Given the description of an element on the screen output the (x, y) to click on. 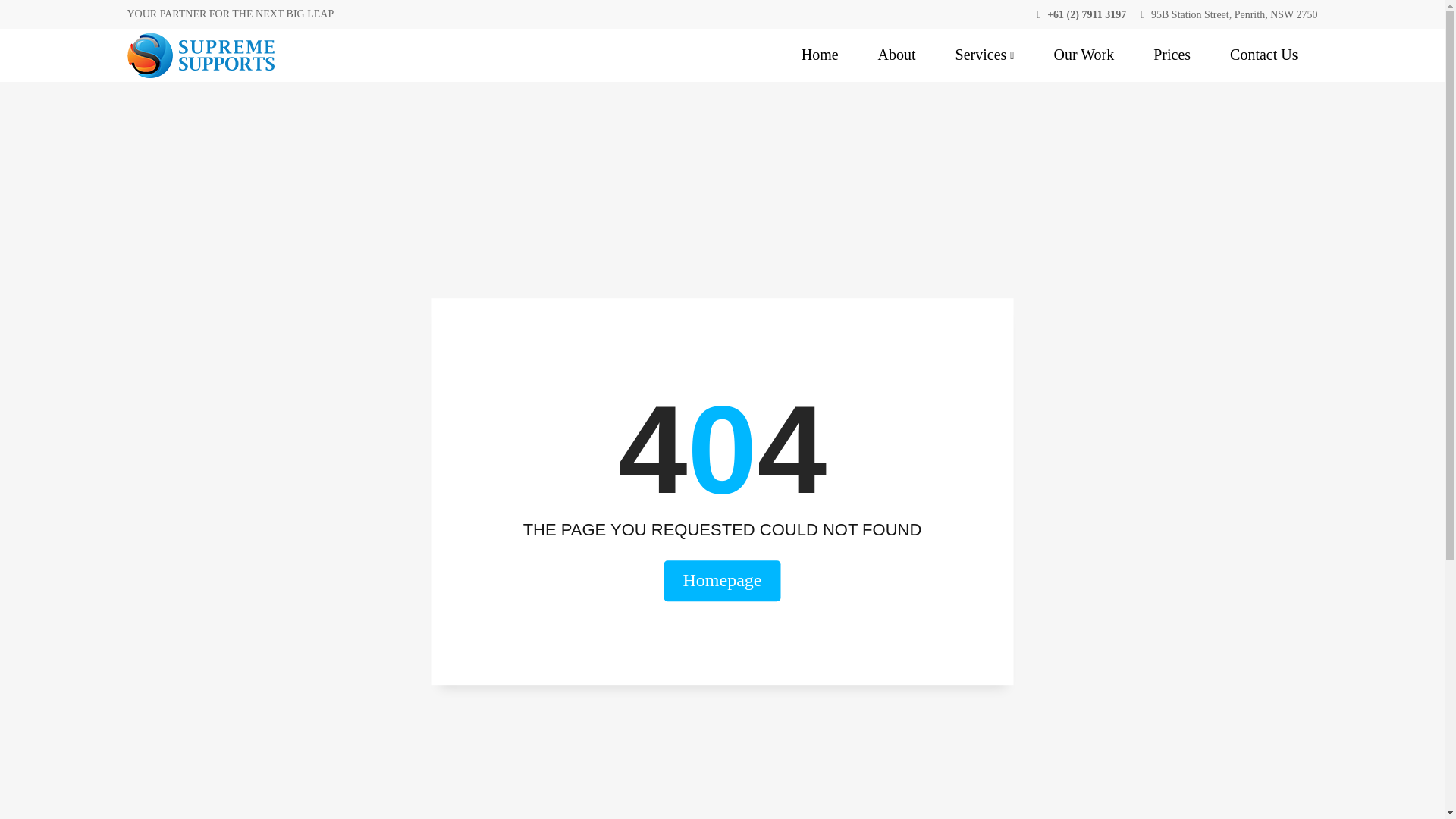
Home (819, 55)
About (896, 55)
Services (984, 55)
Contact Us (1263, 55)
Our Work (1083, 55)
Homepage (721, 580)
Prices (1171, 55)
Prices (1171, 55)
About (896, 55)
Supreme Supports (201, 54)
Home (819, 55)
Contact Us (1263, 55)
Our Work (1083, 55)
Services (984, 55)
